Given the description of an element on the screen output the (x, y) to click on. 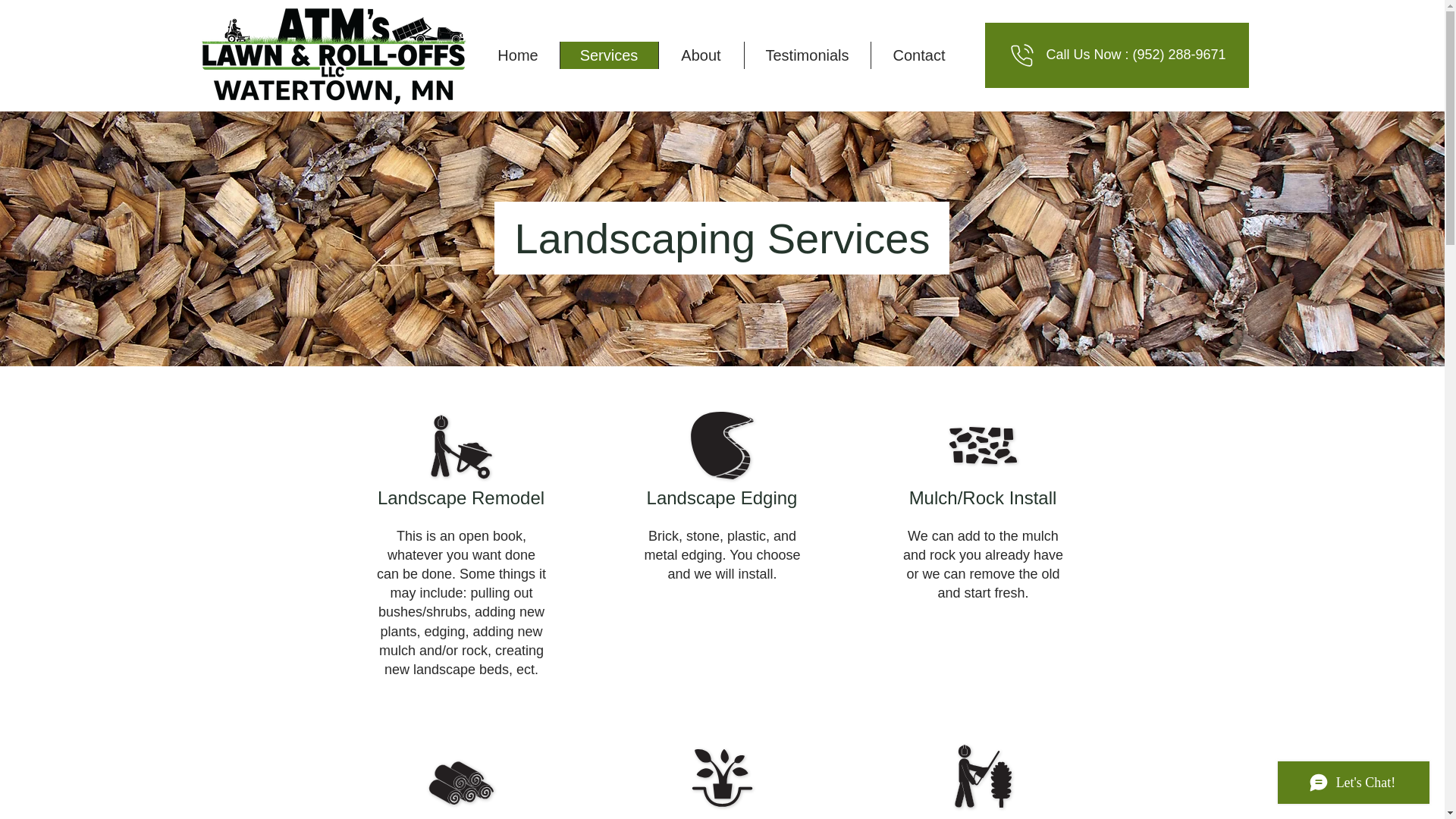
Testimonials (805, 54)
Services (608, 54)
Home (517, 54)
About (701, 54)
Contact (919, 54)
